Given the description of an element on the screen output the (x, y) to click on. 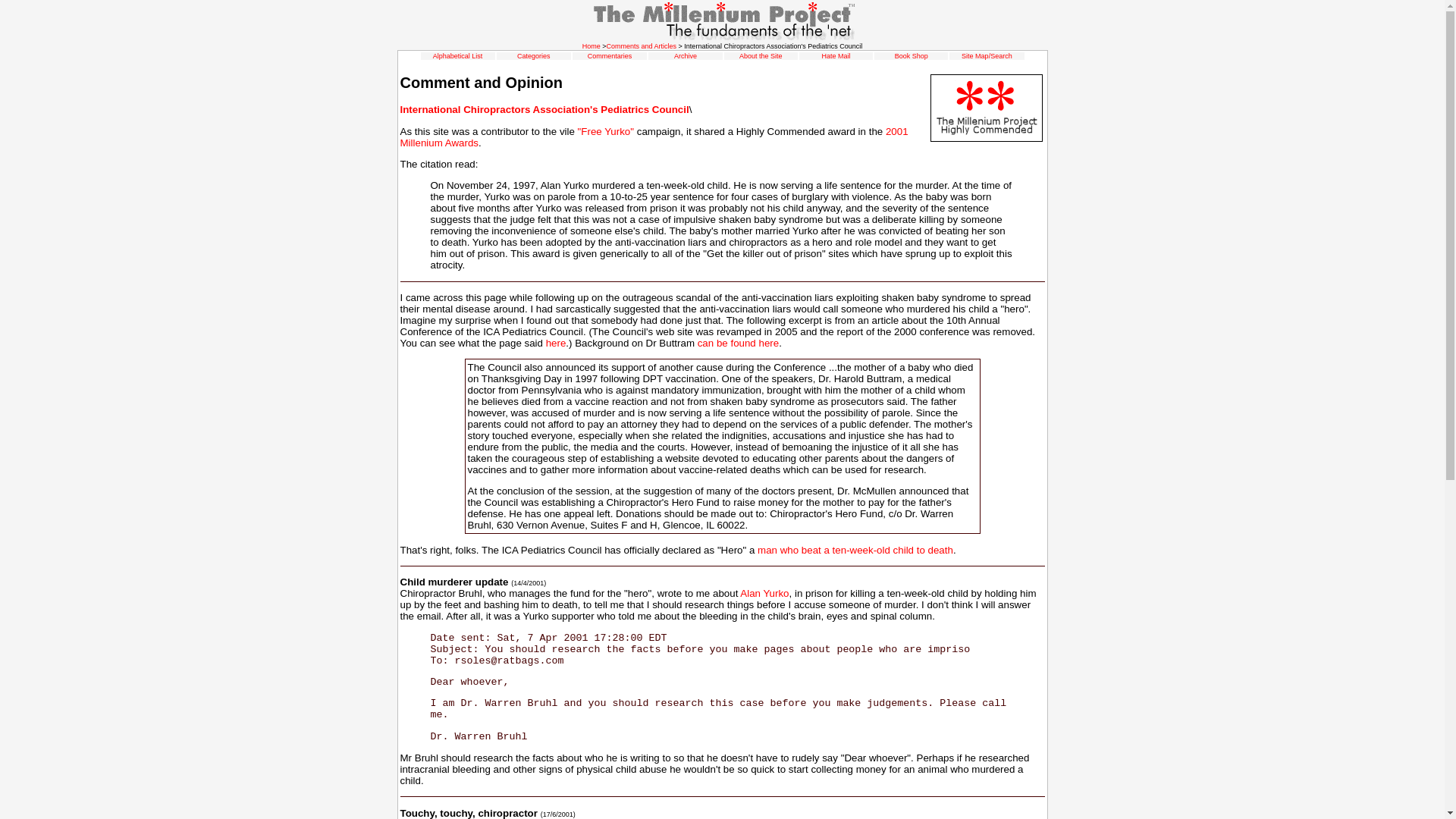
Book Shop (911, 55)
Alphabetical List (457, 55)
2001 Millenium Awards (654, 137)
International Chiropractors Association's Pediatrics Council (544, 109)
Categories (533, 55)
Archive (685, 55)
here (556, 342)
man who beat a ten-week-old child to death (853, 550)
Alan Yurko (764, 593)
Home (590, 45)
